Given the description of an element on the screen output the (x, y) to click on. 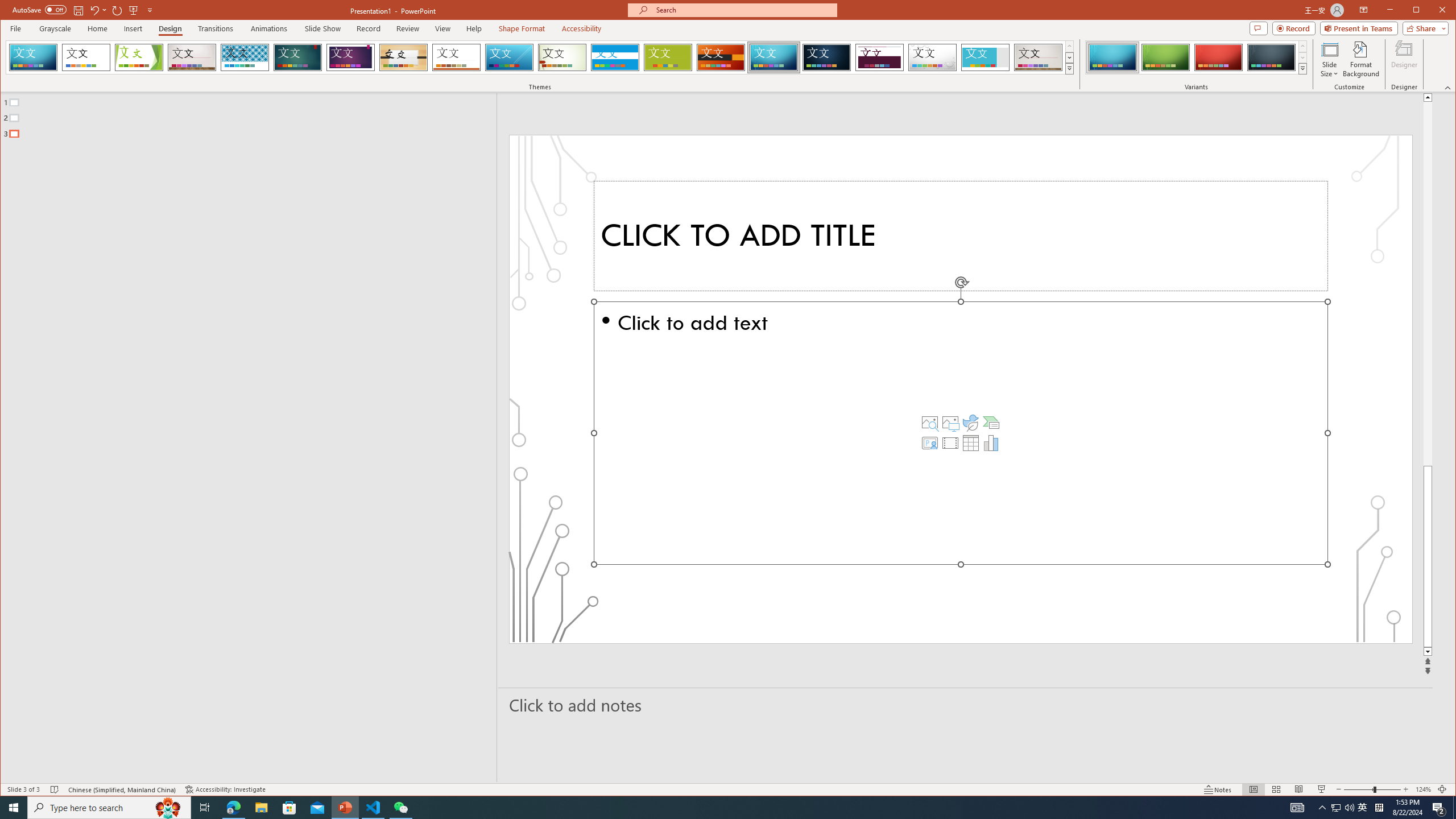
Dividend (879, 57)
